Given the description of an element on the screen output the (x, y) to click on. 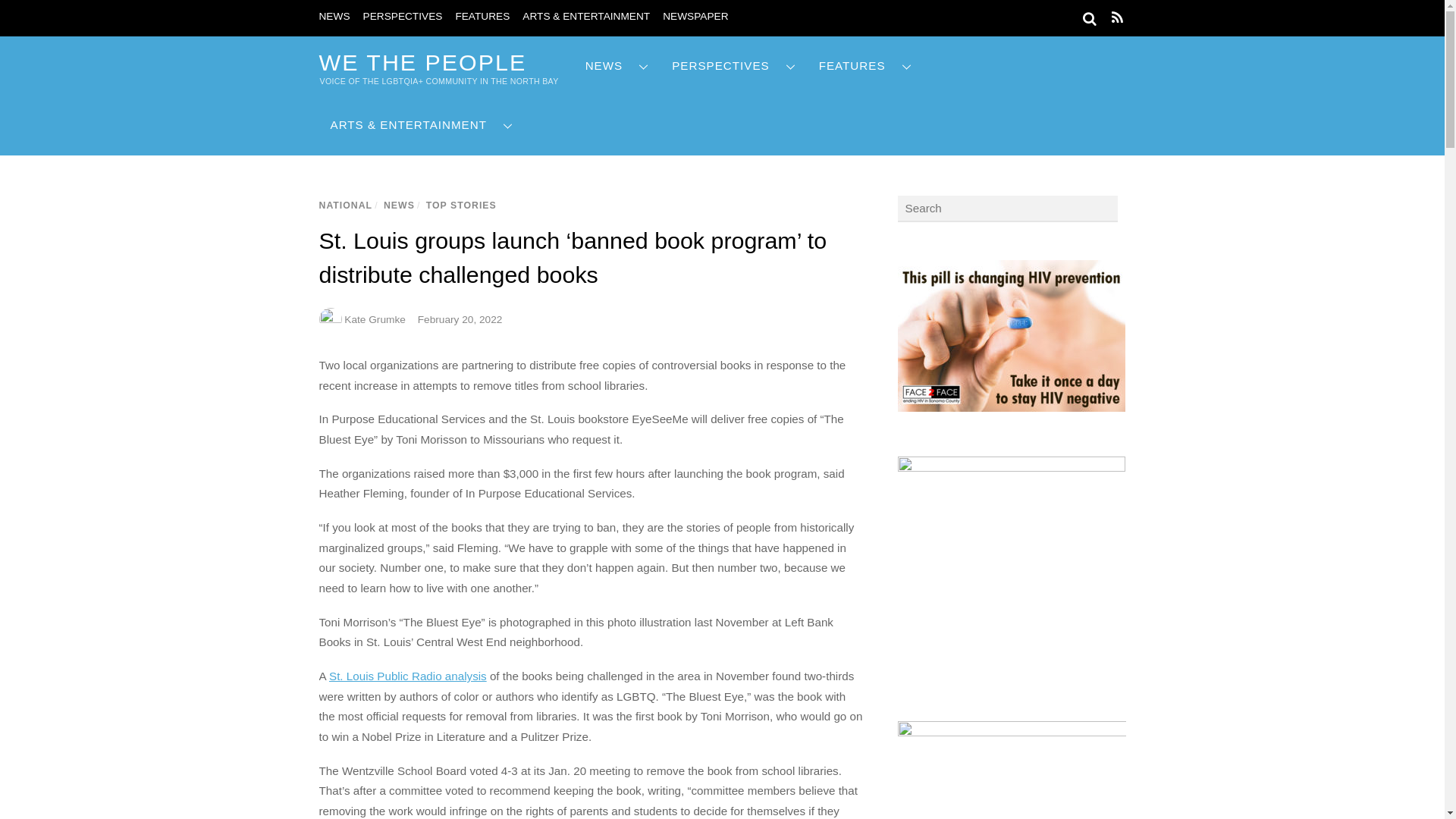
NEWS (617, 66)
NEWSPAPER (695, 16)
FEATURES (481, 16)
WE THE PEOPLE (421, 62)
NEWS (333, 16)
We The People (421, 62)
PERSPECTIVES (402, 16)
